Given the description of an element on the screen output the (x, y) to click on. 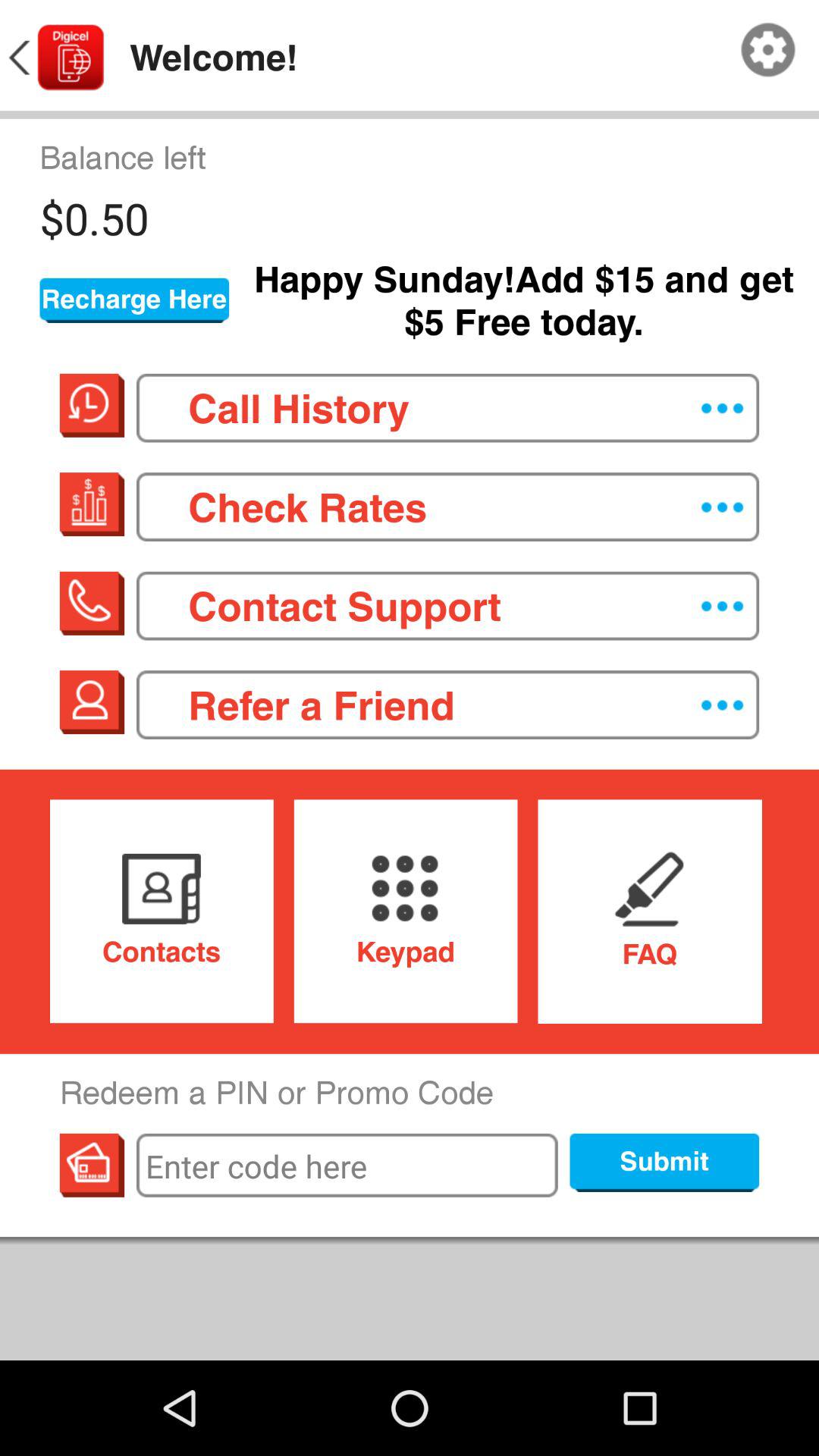
settings menu (768, 49)
